Given the description of an element on the screen output the (x, y) to click on. 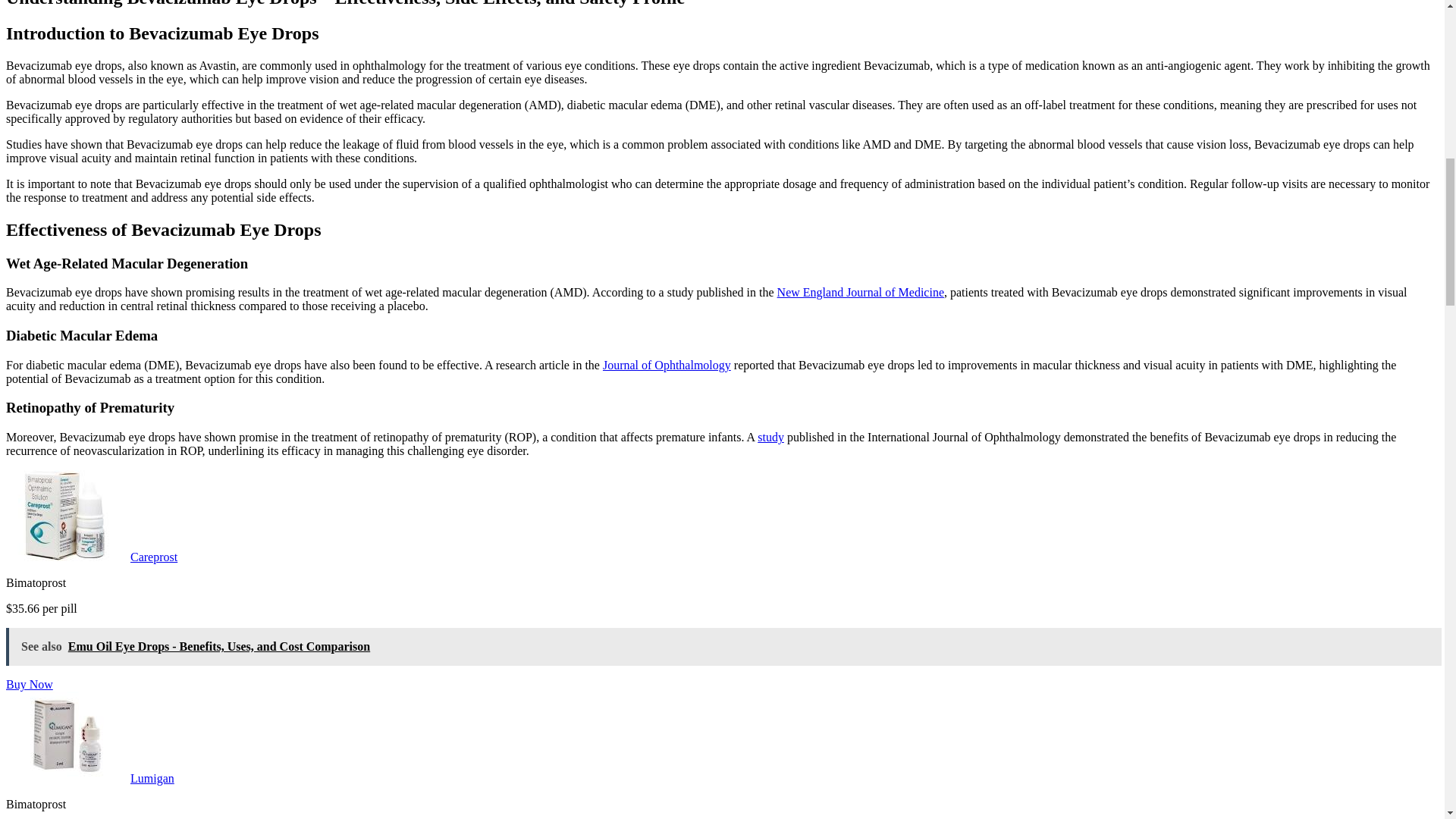
Lumigan (152, 778)
Journal of Ophthalmology (666, 364)
Careprost (154, 556)
study (770, 436)
New England Journal of Medicine (860, 291)
Buy Now (28, 684)
